Given the description of an element on the screen output the (x, y) to click on. 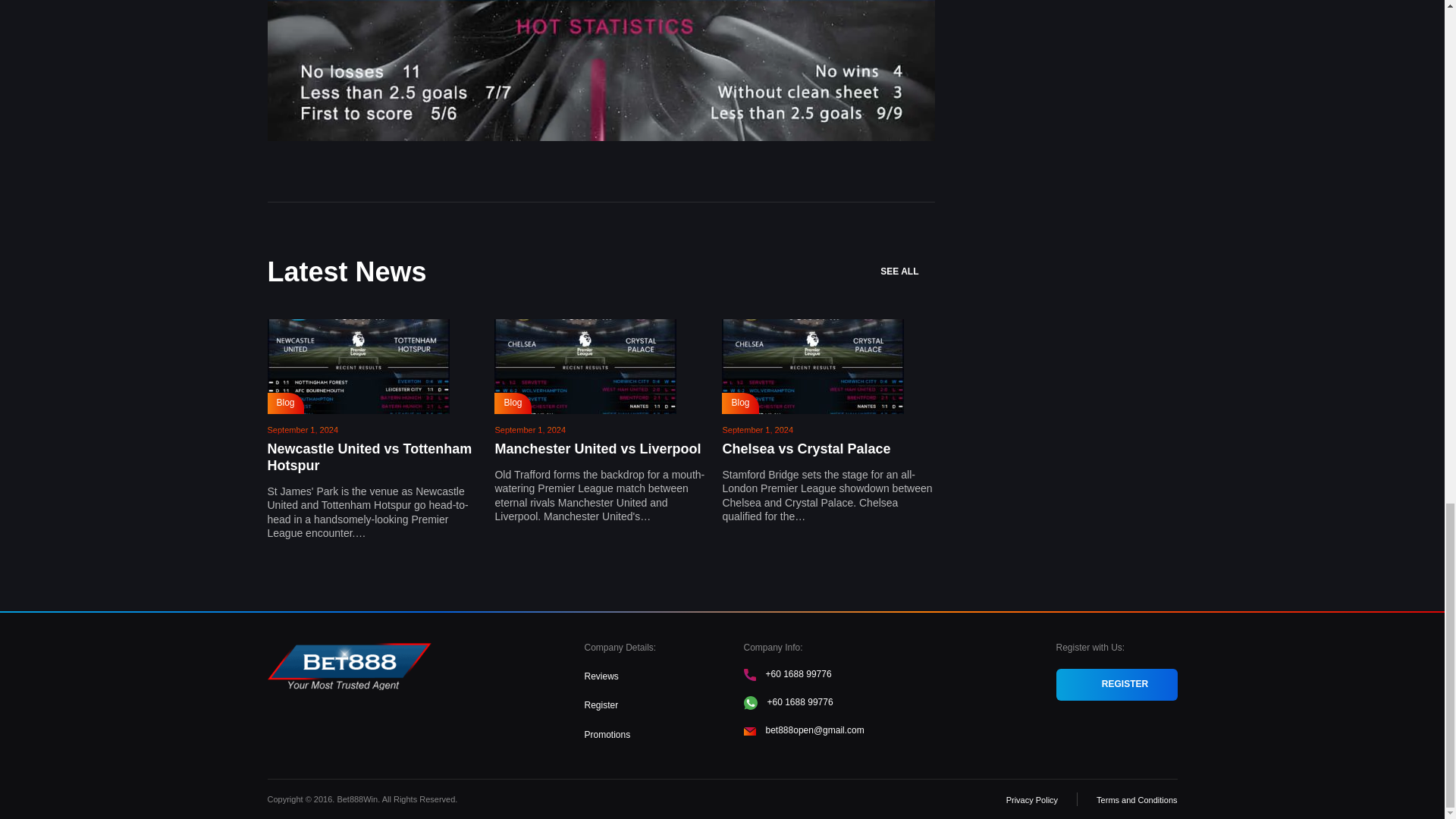
Promotions (606, 733)
Register (600, 705)
REGISTER (1115, 685)
Newcastle United vs Tottenham Hotspur (368, 457)
SEE ALL (907, 271)
Terms and Conditions (1136, 799)
Manchester United vs Liverpool (597, 448)
Reviews (600, 675)
Chelsea vs Crystal Palace (805, 448)
Privacy Policy (1032, 799)
